Given the description of an element on the screen output the (x, y) to click on. 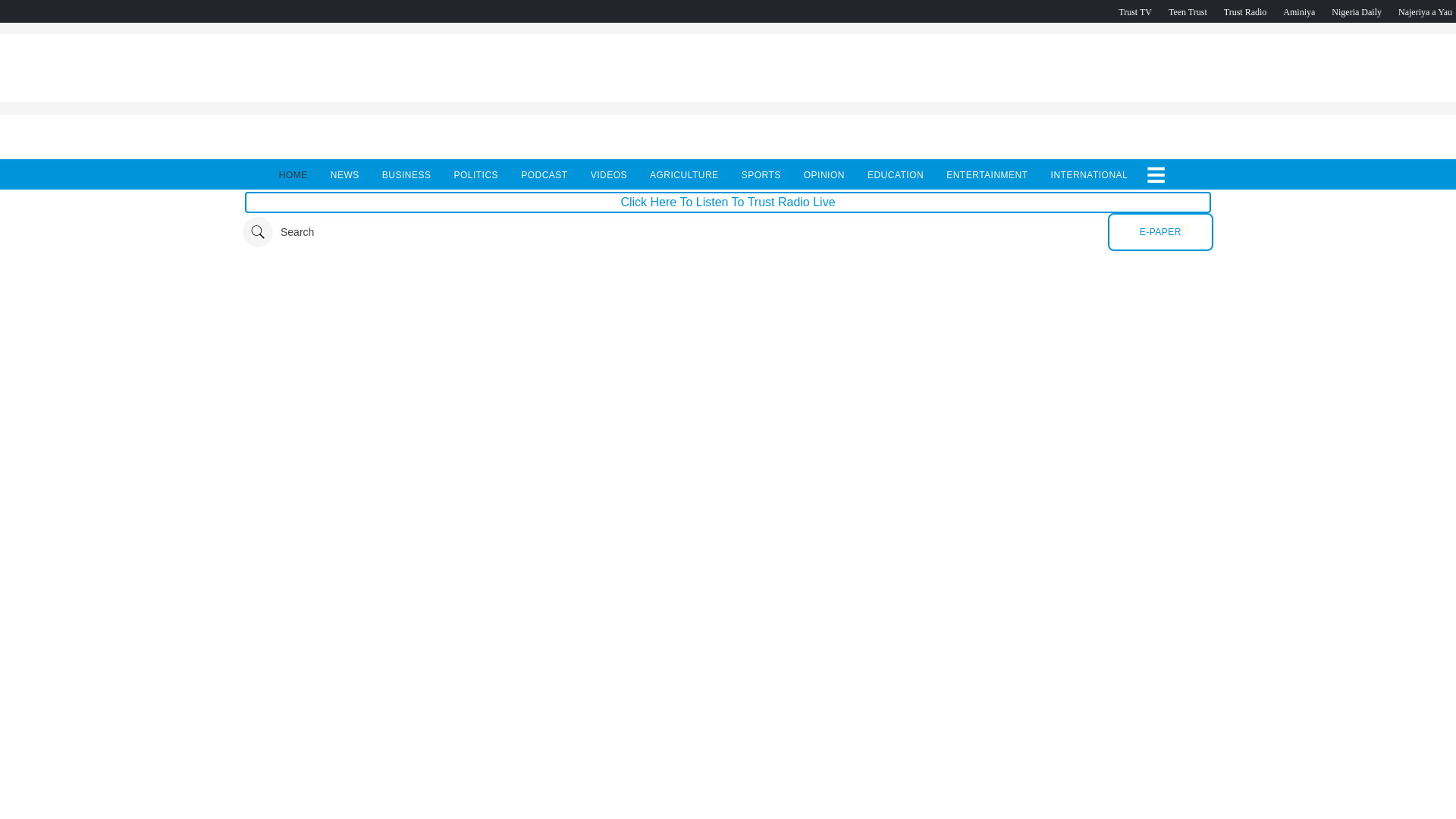
Trust TV (1134, 11)
E-PAPER (1160, 231)
Trust Radio Live (1245, 11)
Saurari Shirye Shiryenmu (1424, 11)
HOME (293, 174)
Podcast (1356, 11)
Nigeria Daily (1356, 11)
Teen Trust (1188, 11)
Trust Radio (1245, 11)
Najeriya a Yau (1424, 11)
